Given the description of an element on the screen output the (x, y) to click on. 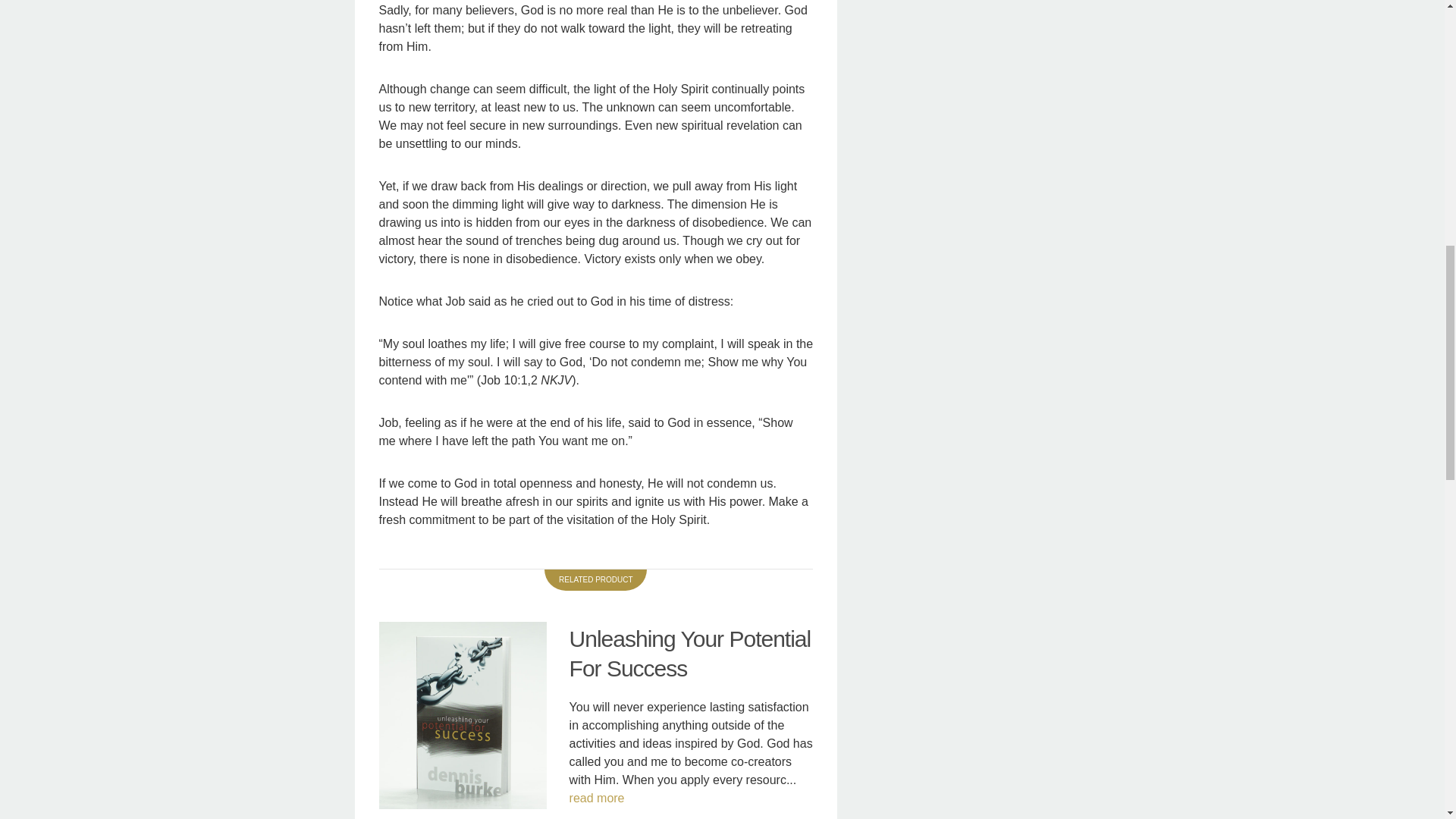
read more (596, 797)
